Given the description of an element on the screen output the (x, y) to click on. 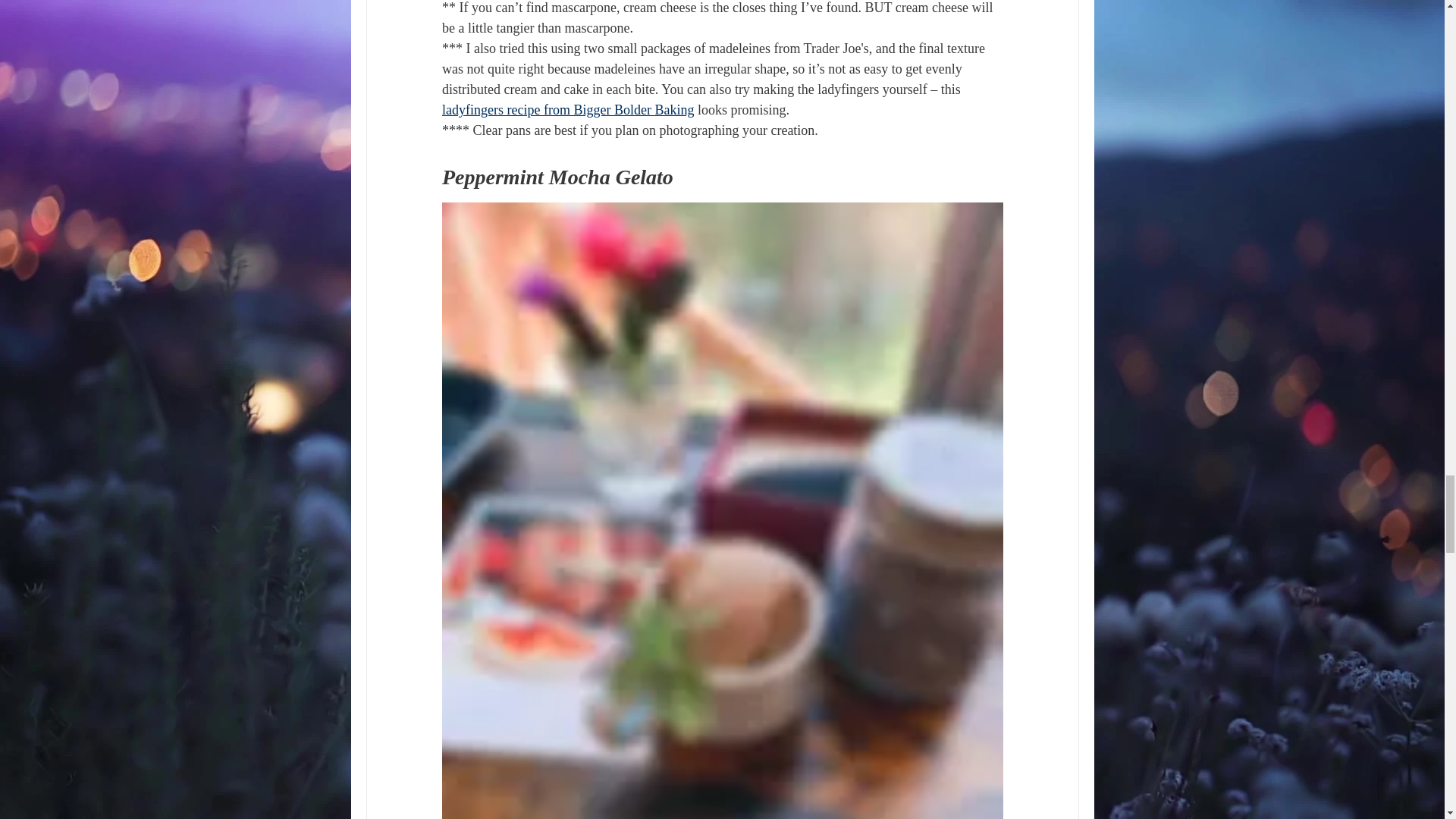
ladyfingers recipe from Bigger Bolder Baking (567, 109)
